Given the description of an element on the screen output the (x, y) to click on. 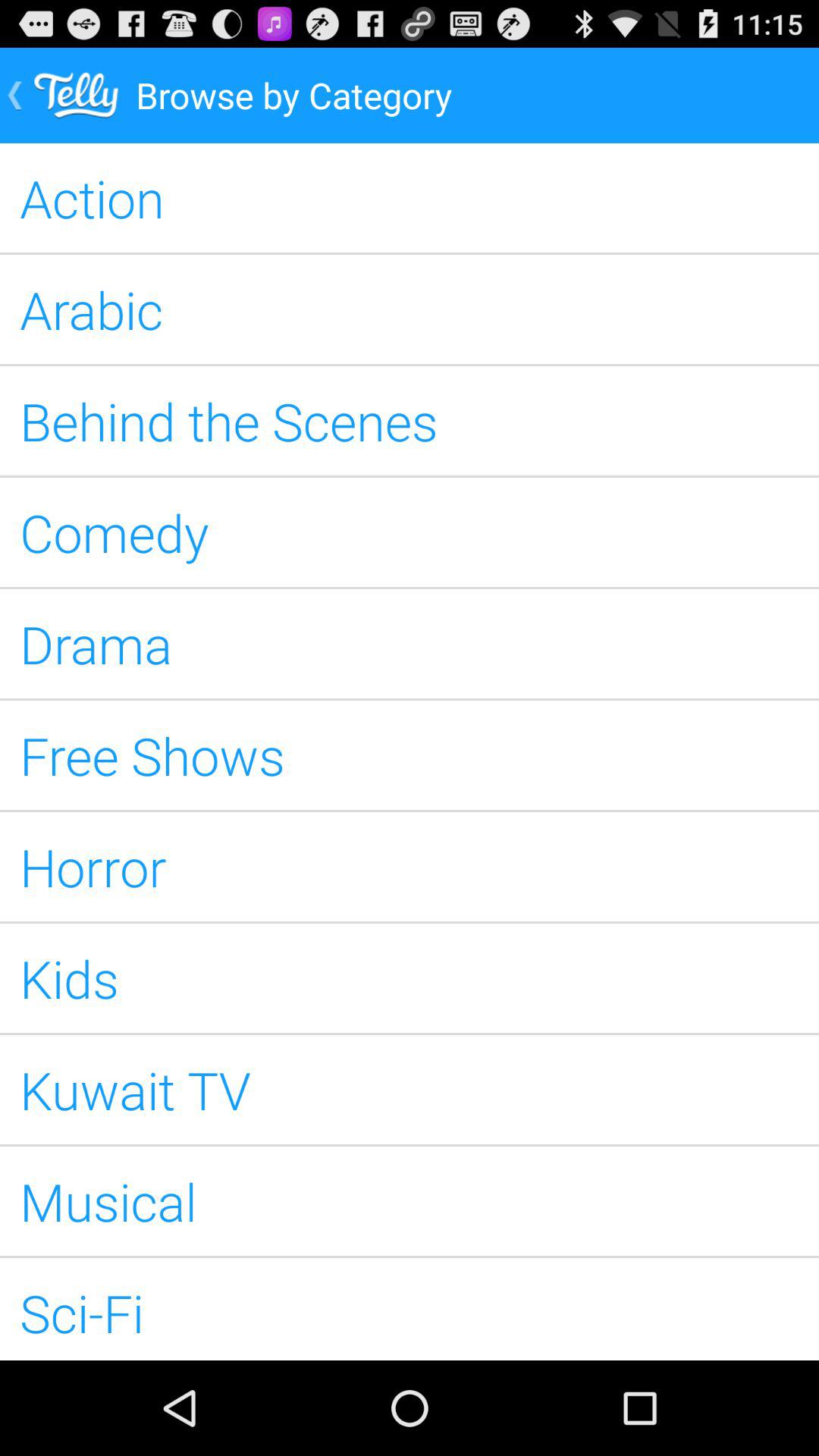
flip until behind the scenes app (409, 420)
